Given the description of an element on the screen output the (x, y) to click on. 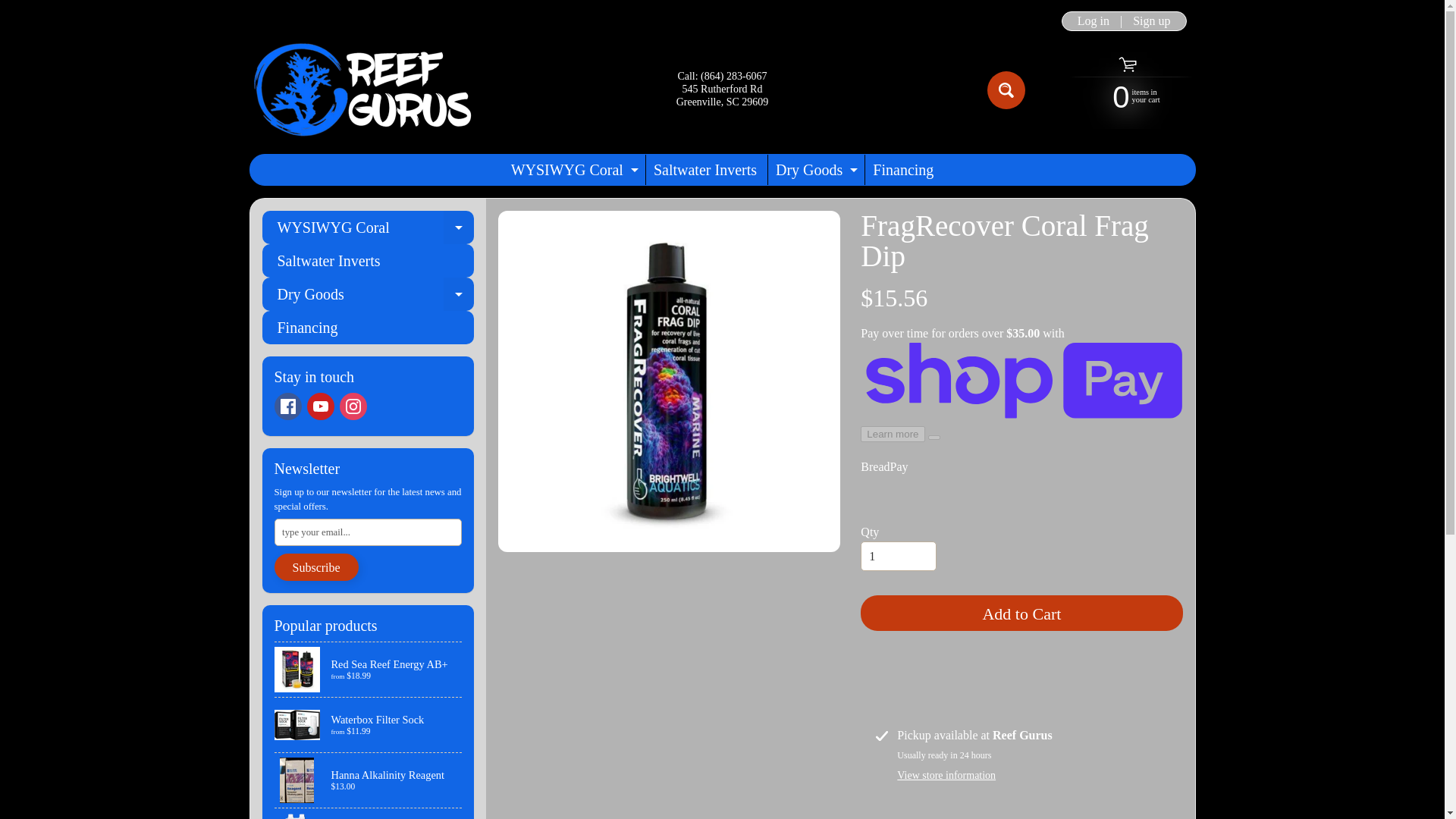
Hanna Alkalinity Reagent (369, 779)
Search (1006, 89)
Log in (1093, 21)
Youtube (572, 169)
Skip to content (319, 406)
Waterbox Filter Sock (22, 8)
Financing (369, 724)
All For Reef (902, 169)
Facebook (369, 813)
Instagram (288, 406)
Search (814, 169)
Reef Gurus (352, 406)
